Given the description of an element on the screen output the (x, y) to click on. 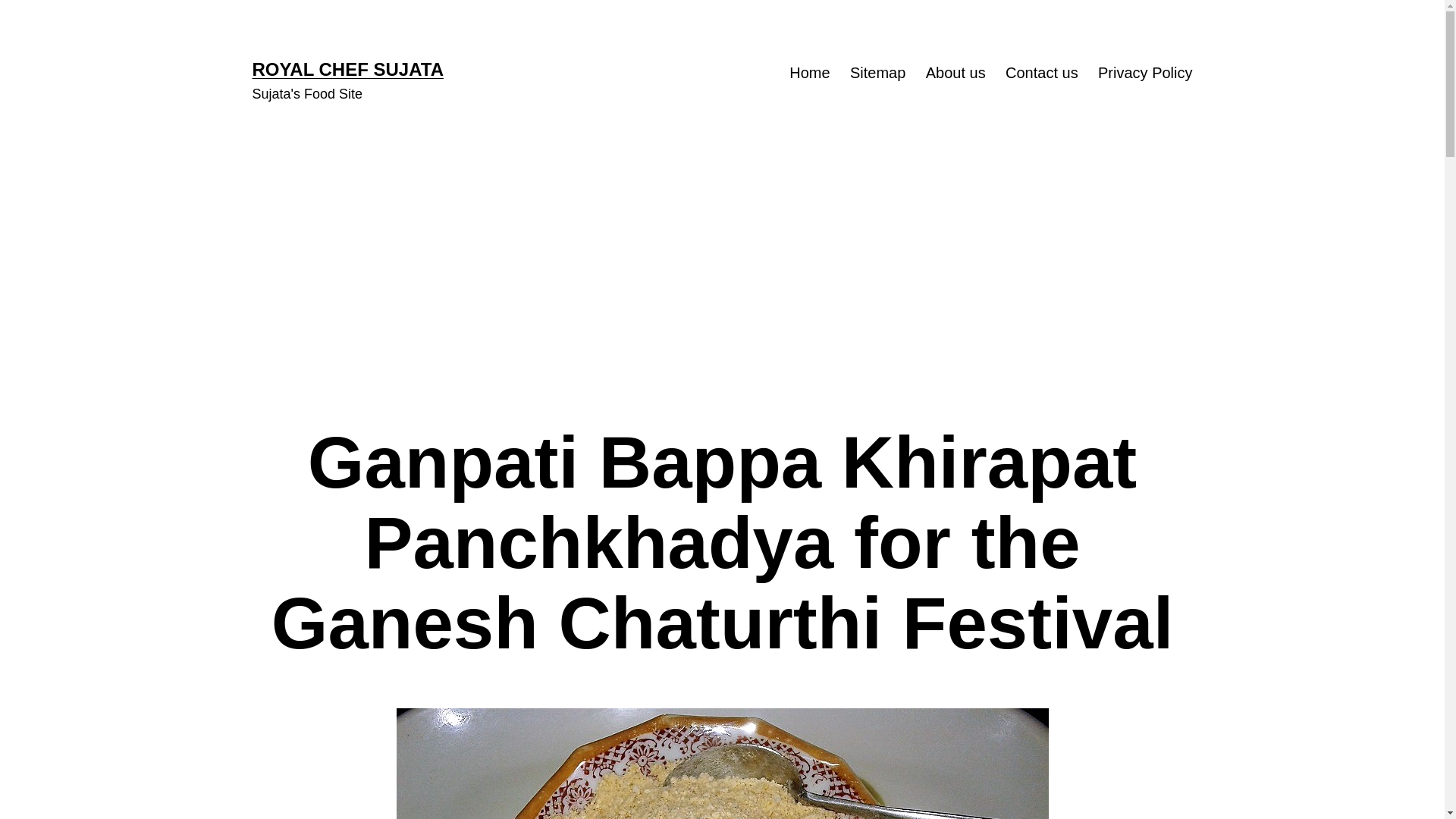
Sitemap (877, 72)
Privacy Policy (1144, 72)
Contact us (1041, 72)
Home (809, 72)
ROYAL CHEF SUJATA (346, 68)
About us (955, 72)
